Given the description of an element on the screen output the (x, y) to click on. 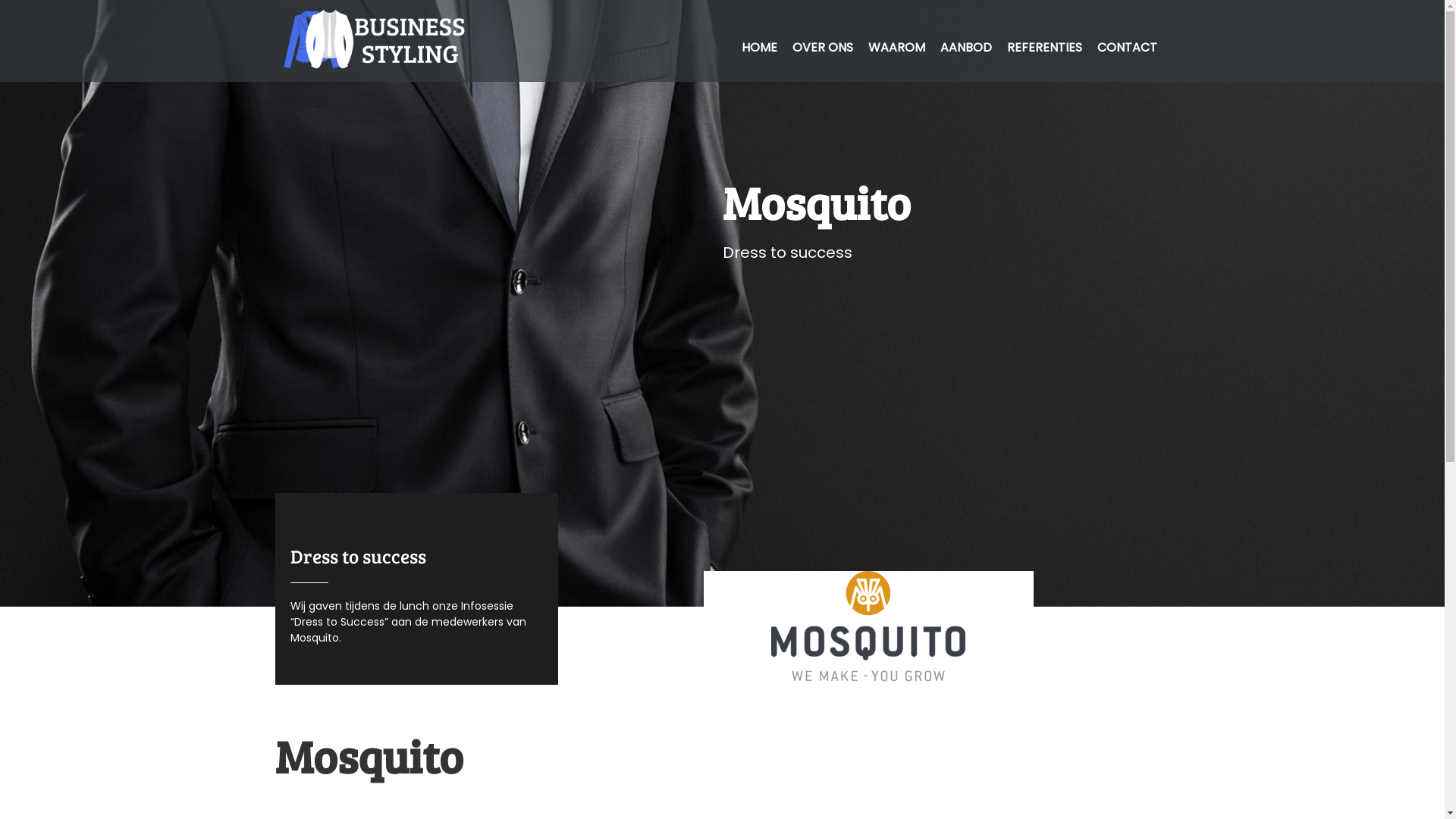
WAAROM Element type: text (895, 47)
OVER ONS Element type: text (821, 47)
Skip to main content Element type: text (658, 0)
HOME Element type: text (759, 47)
Business Styling Element type: text (292, 359)
REFERENTIES Element type: text (1044, 47)
AANBOD Element type: text (965, 47)
CONTACT Element type: text (1126, 47)
